Given the description of an element on the screen output the (x, y) to click on. 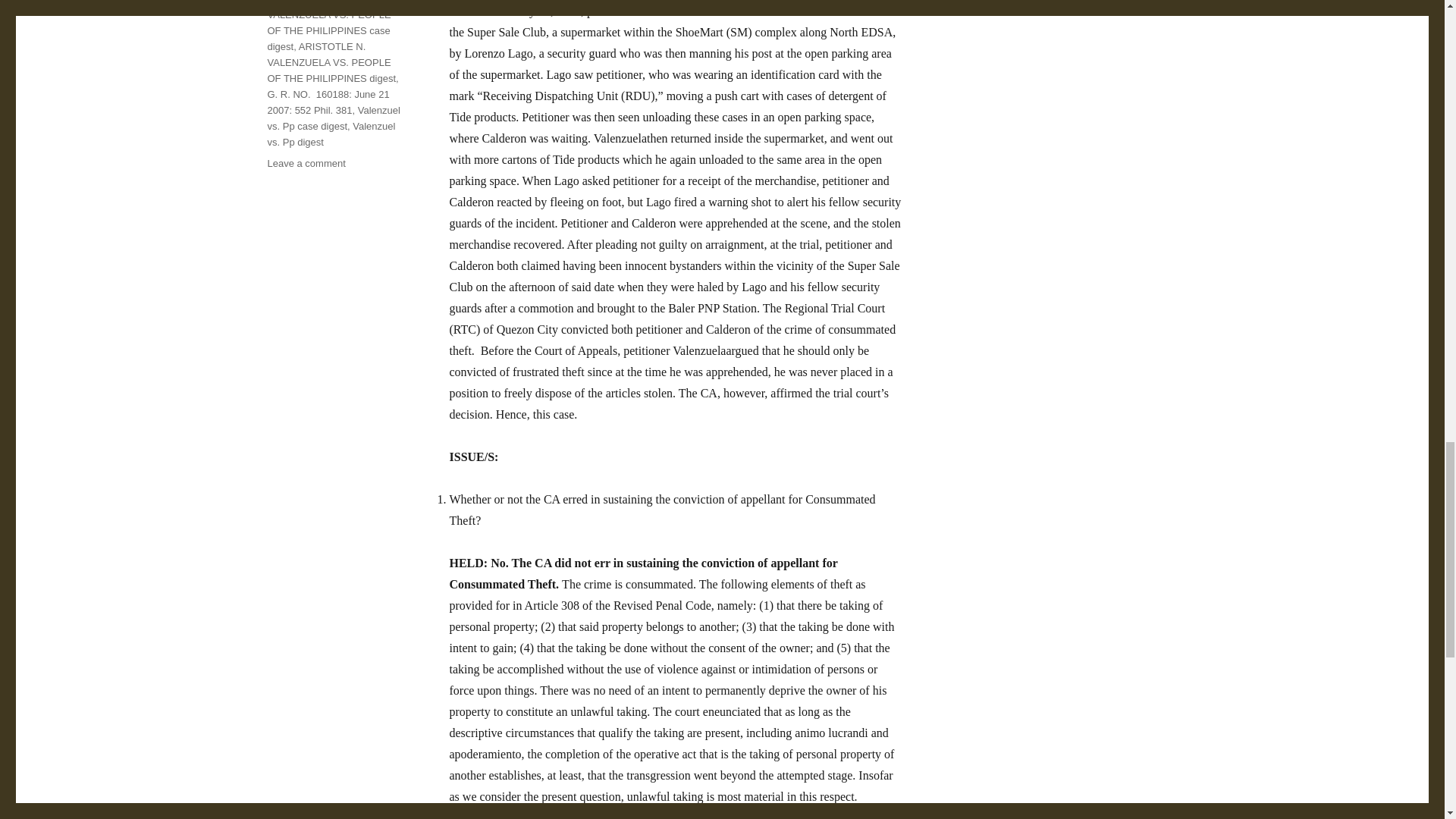
ARISTOTLE N. VALENZUELA VS. PEOPLE OF THE PHILIPPINES digest (331, 62)
Valenzuel vs. Pp case digest (332, 117)
ARISTOTLE N. VALENZUELA VS. PEOPLE OF THE PHILIPPINES (332, 2)
Valenzuel vs. Pp digest (330, 134)
G. R. NO.  160188: June 21 2007: 552 Phil. 381 (327, 102)
Advertisement (1065, 89)
